Given the description of an element on the screen output the (x, y) to click on. 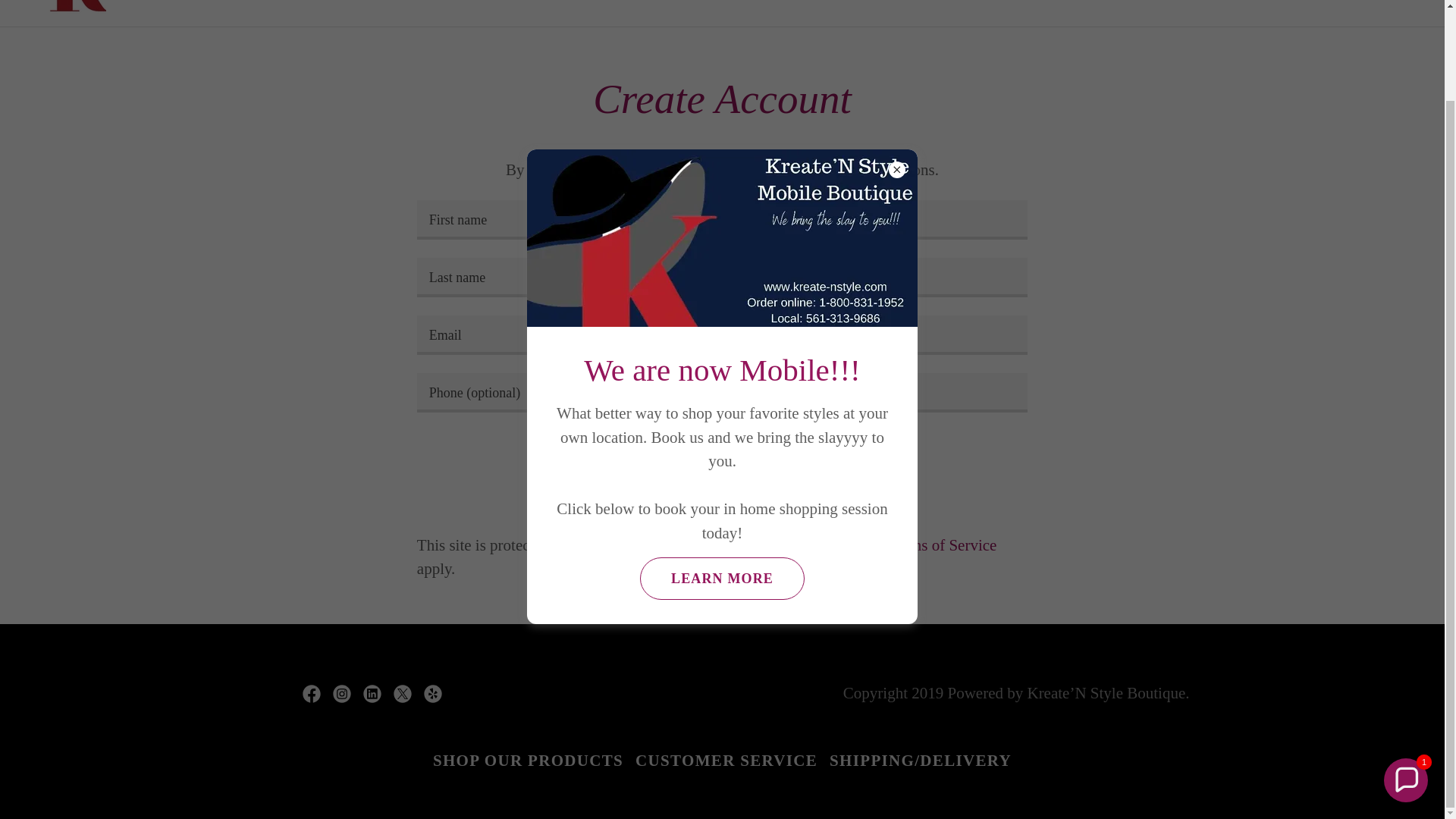
Re:amaze Chat (1298, 566)
